Given the description of an element on the screen output the (x, y) to click on. 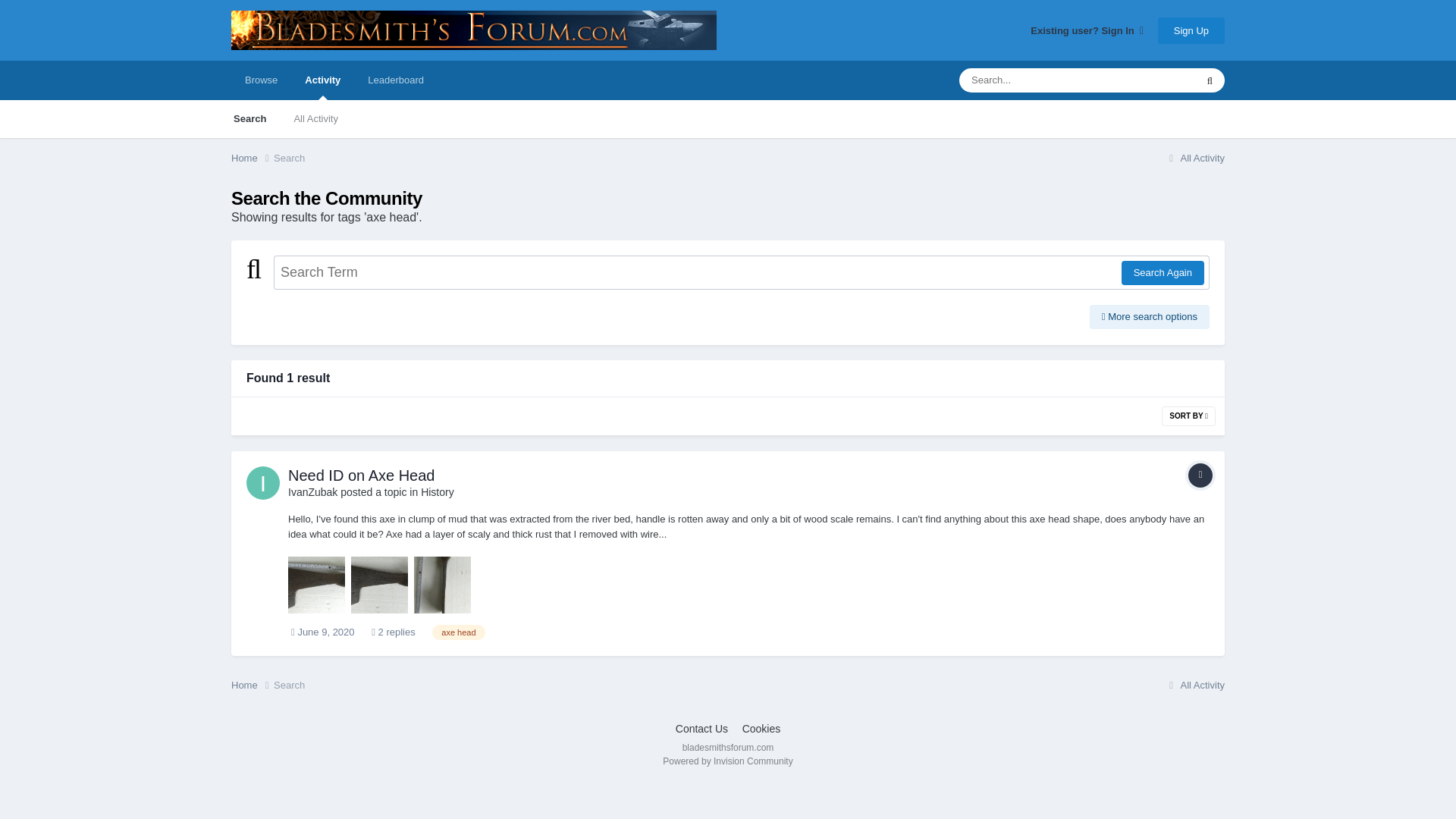
Home (252, 685)
More search options (1149, 316)
Browse (261, 79)
Search (288, 157)
Existing user? Sign In   (1086, 30)
Topic (1200, 475)
Activity (322, 79)
Sign Up (1190, 29)
All Activity (315, 118)
Find other content tagged with 'axe head' (458, 631)
Leaderboard (395, 79)
All Activity (1194, 157)
Search Again (1162, 273)
Invision Community (727, 760)
Home (252, 158)
